Given the description of an element on the screen output the (x, y) to click on. 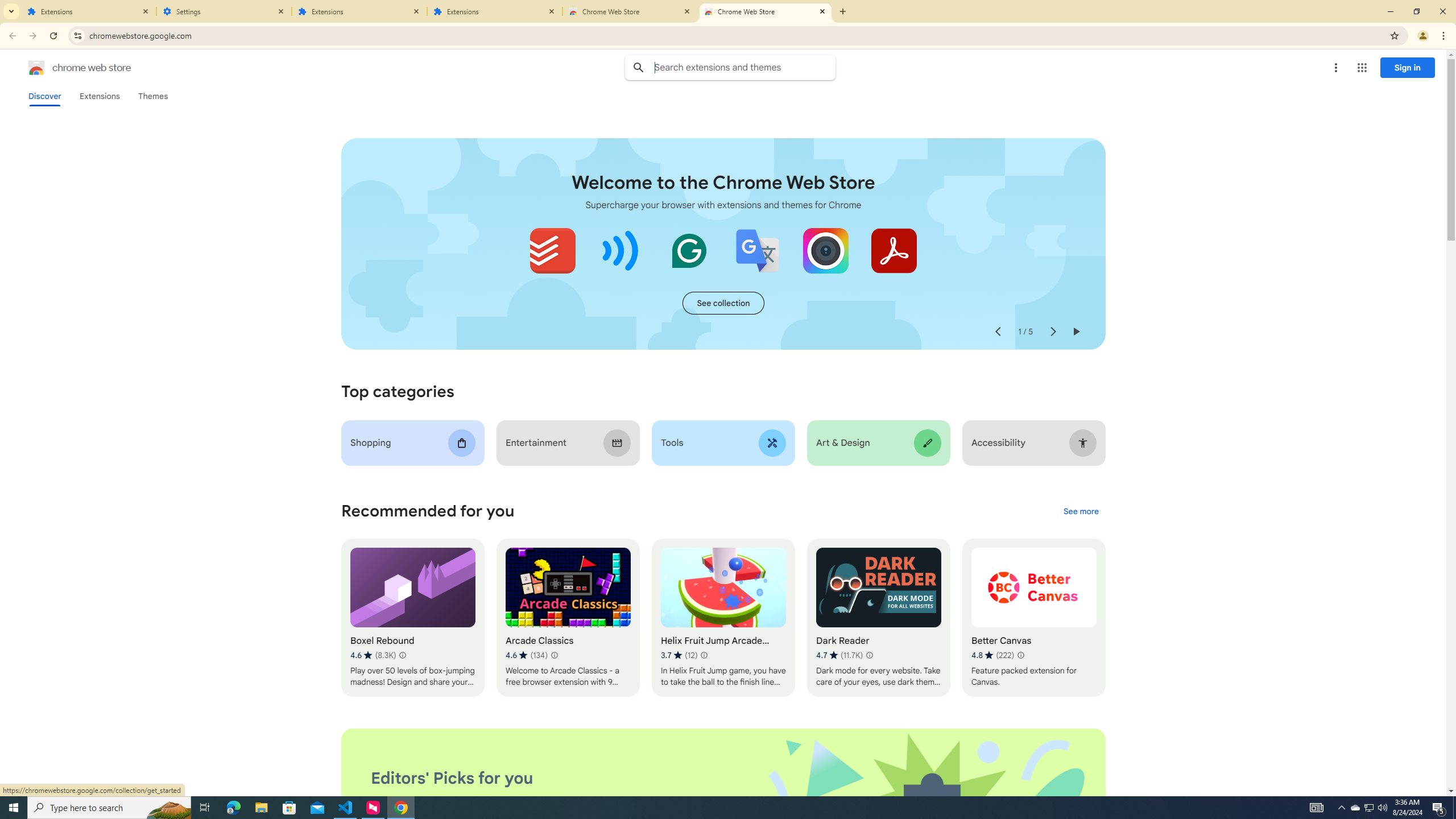
Extensions (99, 95)
Chrome Web Store (765, 11)
Art & Design (878, 443)
Chrome Web Store logo (36, 67)
Search input (744, 67)
Learn more about results and reviews "Arcade Classics" (553, 655)
Previous slide (997, 331)
Volume Master (620, 250)
